Given the description of an element on the screen output the (x, y) to click on. 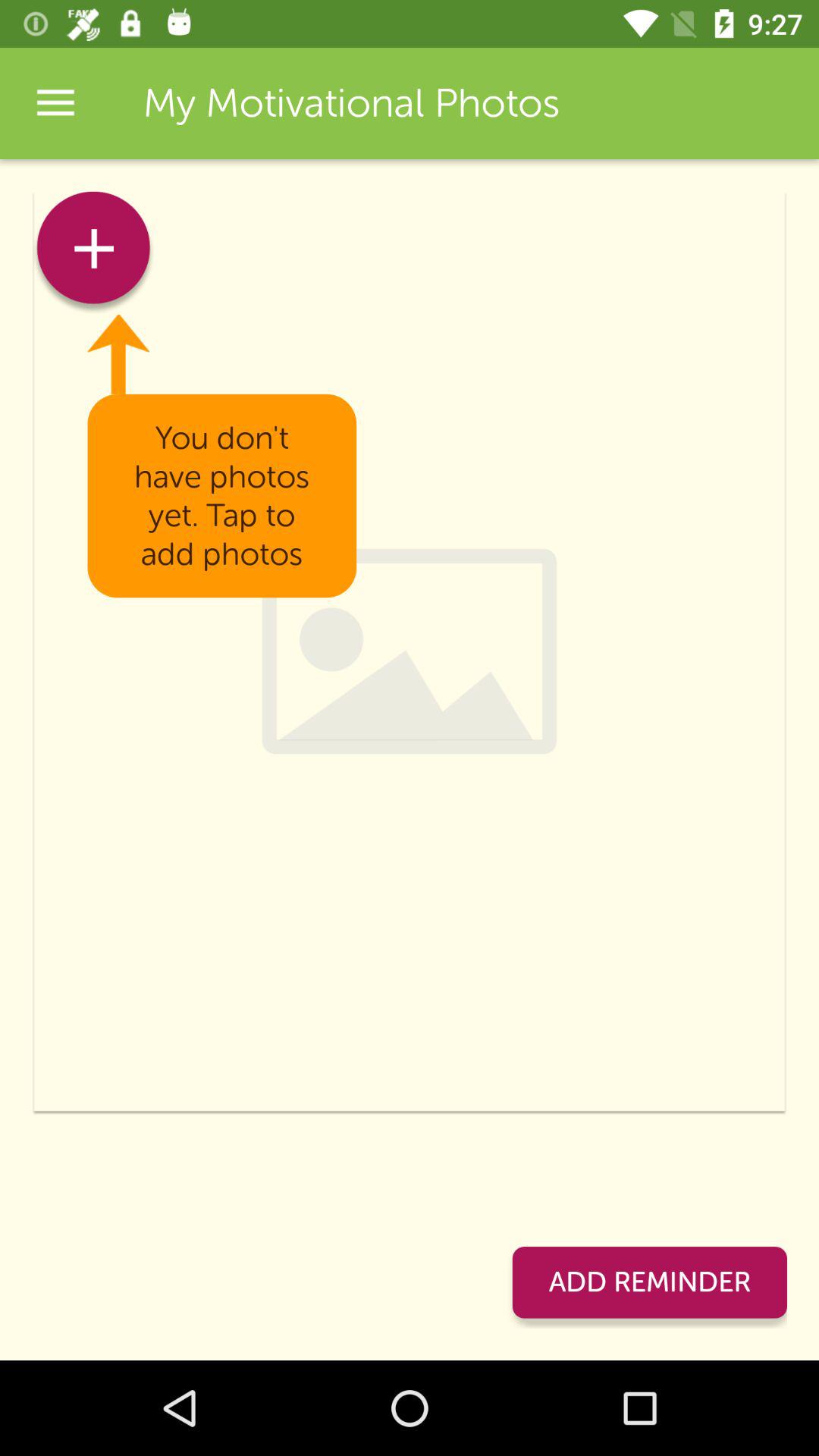
turn on the add reminder icon (649, 1282)
